Given the description of an element on the screen output the (x, y) to click on. 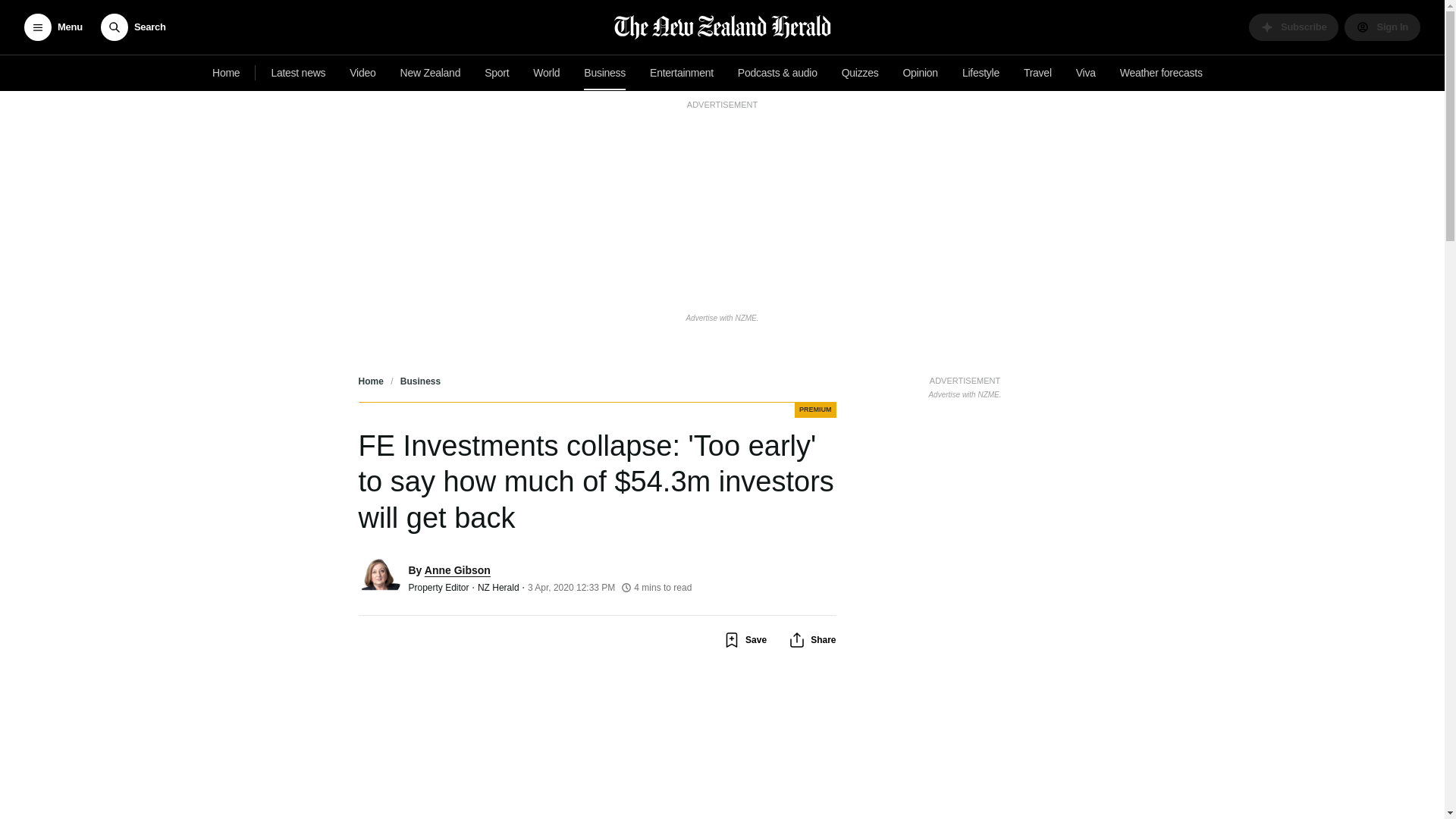
New Zealand (430, 72)
Opinion (919, 72)
Subscribe (1294, 26)
Quizzes (860, 72)
Latest news (964, 384)
Weather forecasts (298, 72)
World (1160, 72)
Viva (546, 72)
Sign In (1086, 72)
